Given the description of an element on the screen output the (x, y) to click on. 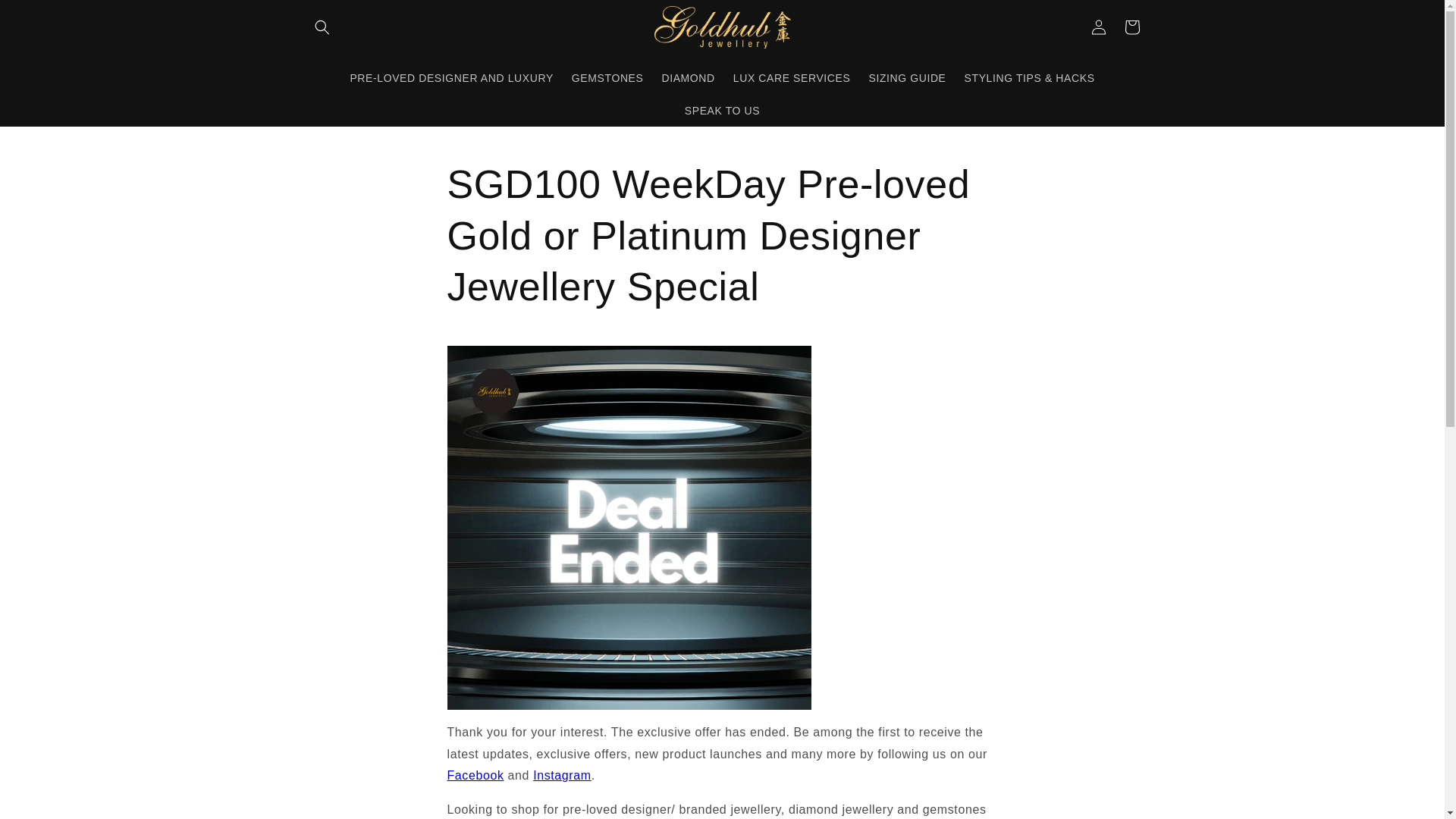
Gold Hub Jewellery, Facebook (474, 775)
Skip to content (45, 17)
Facebook (474, 775)
Instagram of Gold Hub Jewellery (561, 775)
Instagram (561, 775)
Log in (1098, 27)
GEMSTONES (607, 78)
DIAMOND (687, 78)
Cart (1131, 27)
LUX CARE SERVICES (791, 78)
PRE-LOVED DESIGNER AND LUXURY (451, 78)
SIZING GUIDE (907, 78)
SPEAK TO US (721, 110)
